Given the description of an element on the screen output the (x, y) to click on. 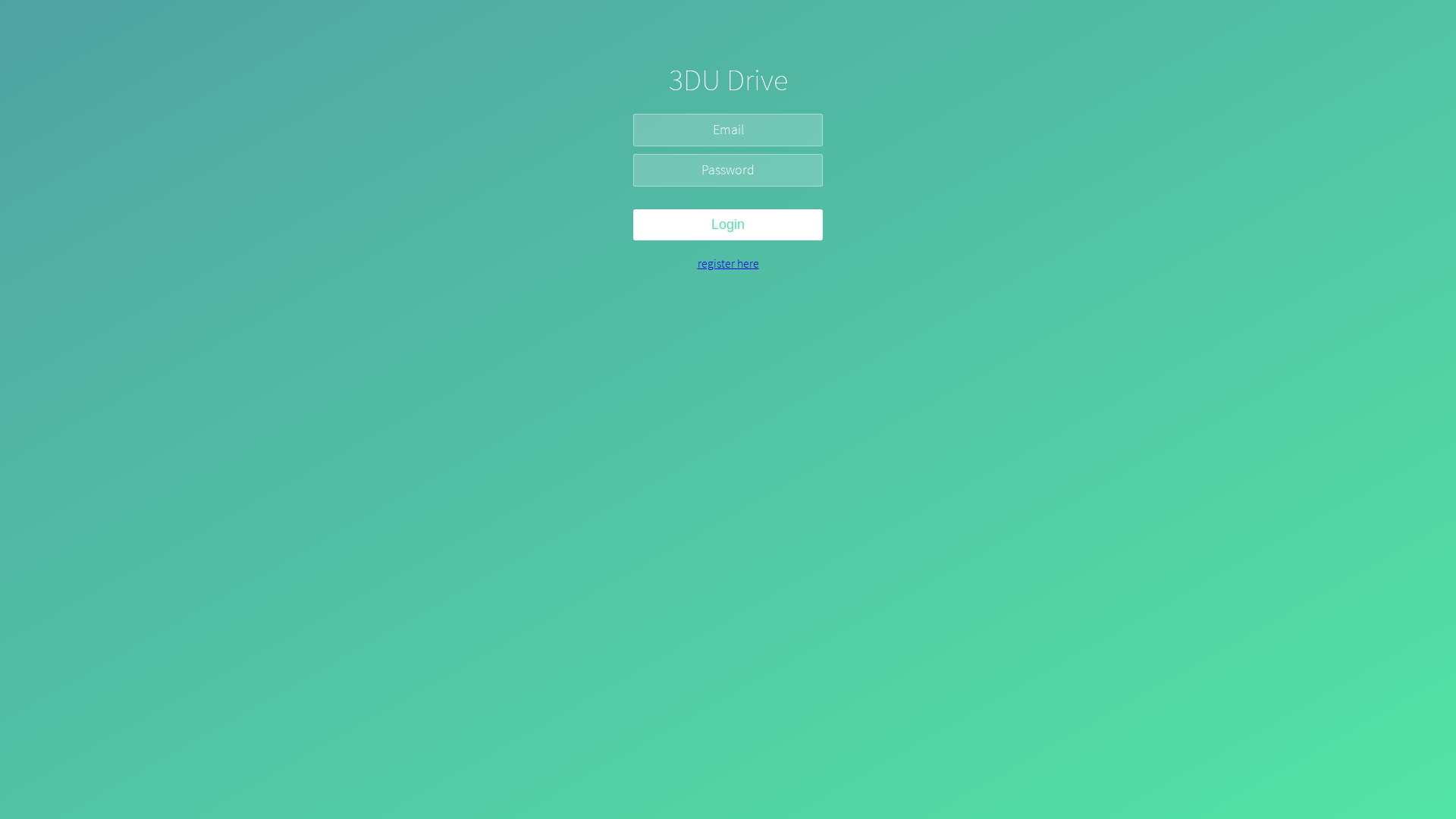
register here Element type: text (728, 262)
Login Element type: text (727, 224)
